Given the description of an element on the screen output the (x, y) to click on. 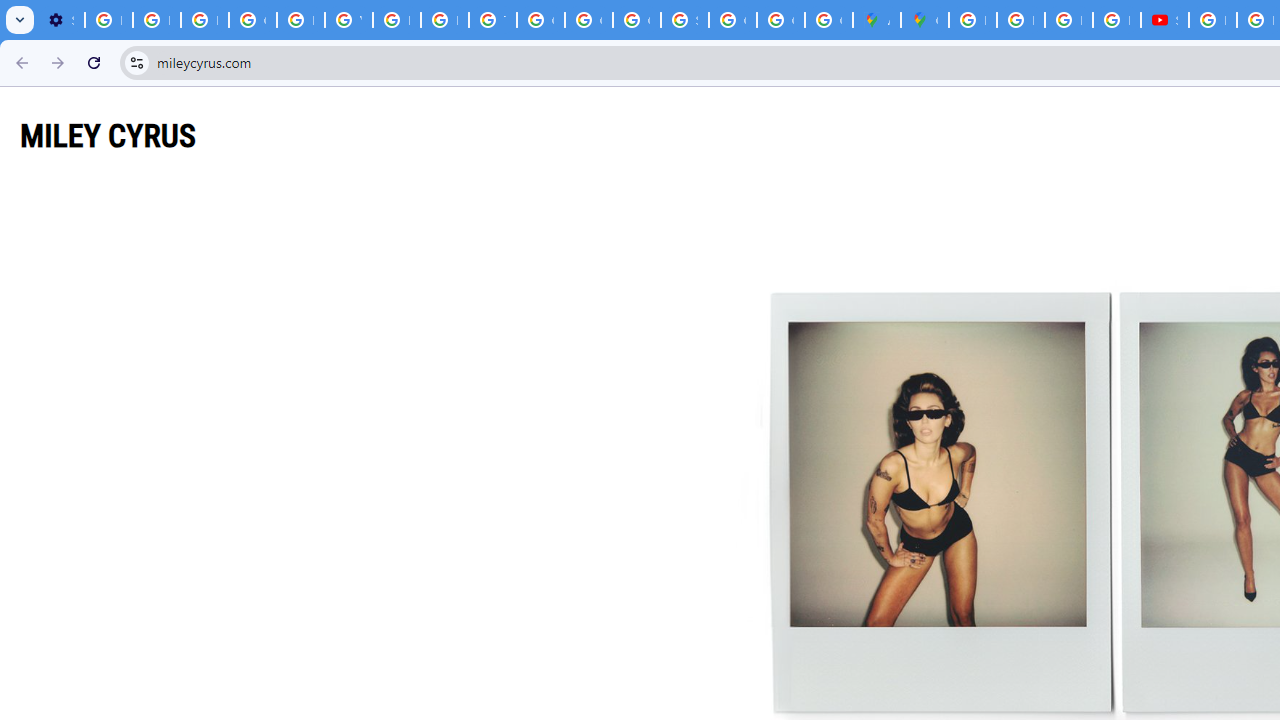
Google Maps (924, 20)
